Given the description of an element on the screen output the (x, y) to click on. 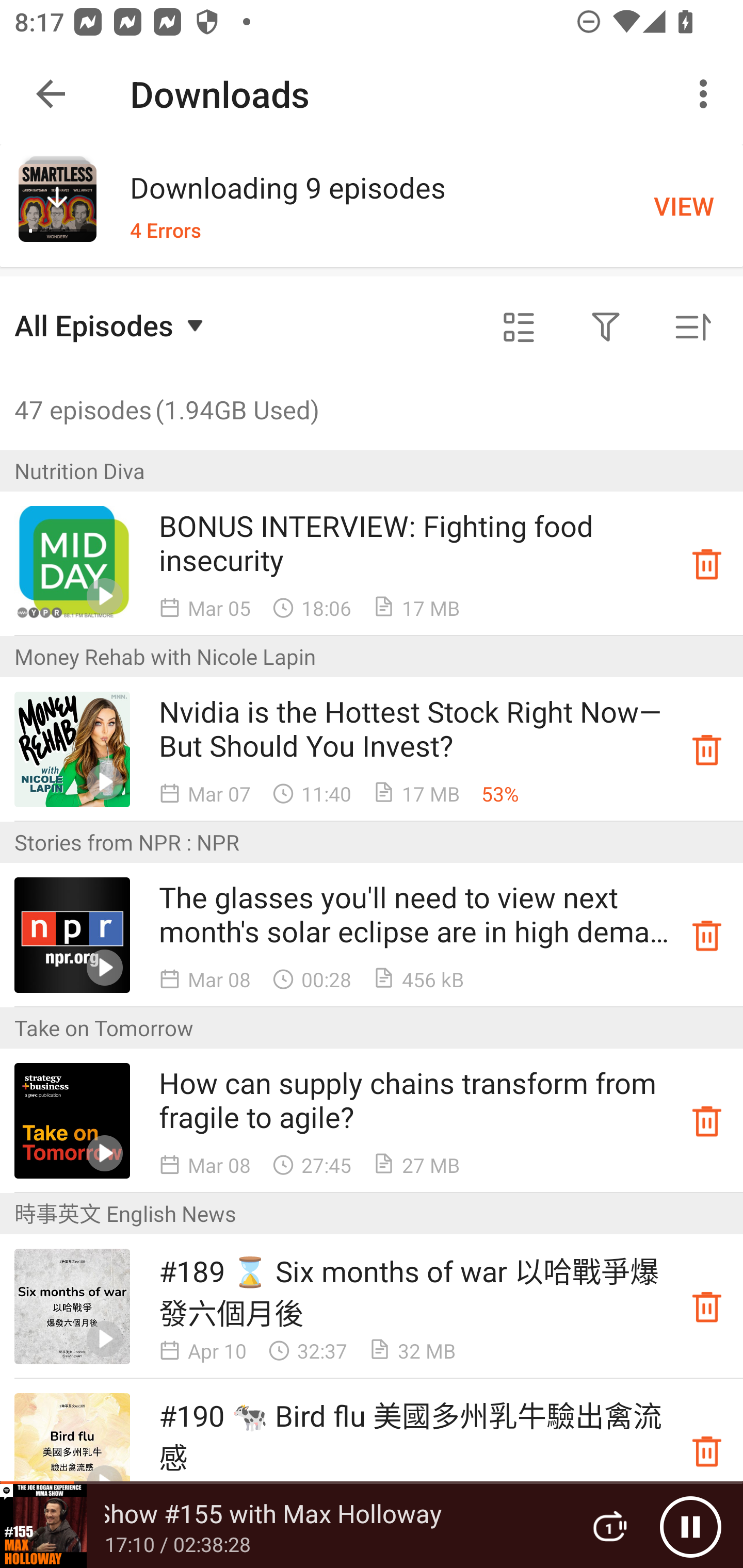
Navigate up (50, 93)
More options (706, 93)
5.0 Downloading 9 episodes 4 Errors VIEW (371, 205)
All Episodes (111, 325)
 (518, 327)
 (605, 327)
 Sorted by oldest first (692, 327)
Downloaded (706, 563)
Downloaded (706, 749)
Downloaded (706, 935)
Downloaded (706, 1121)
